Given the description of an element on the screen output the (x, y) to click on. 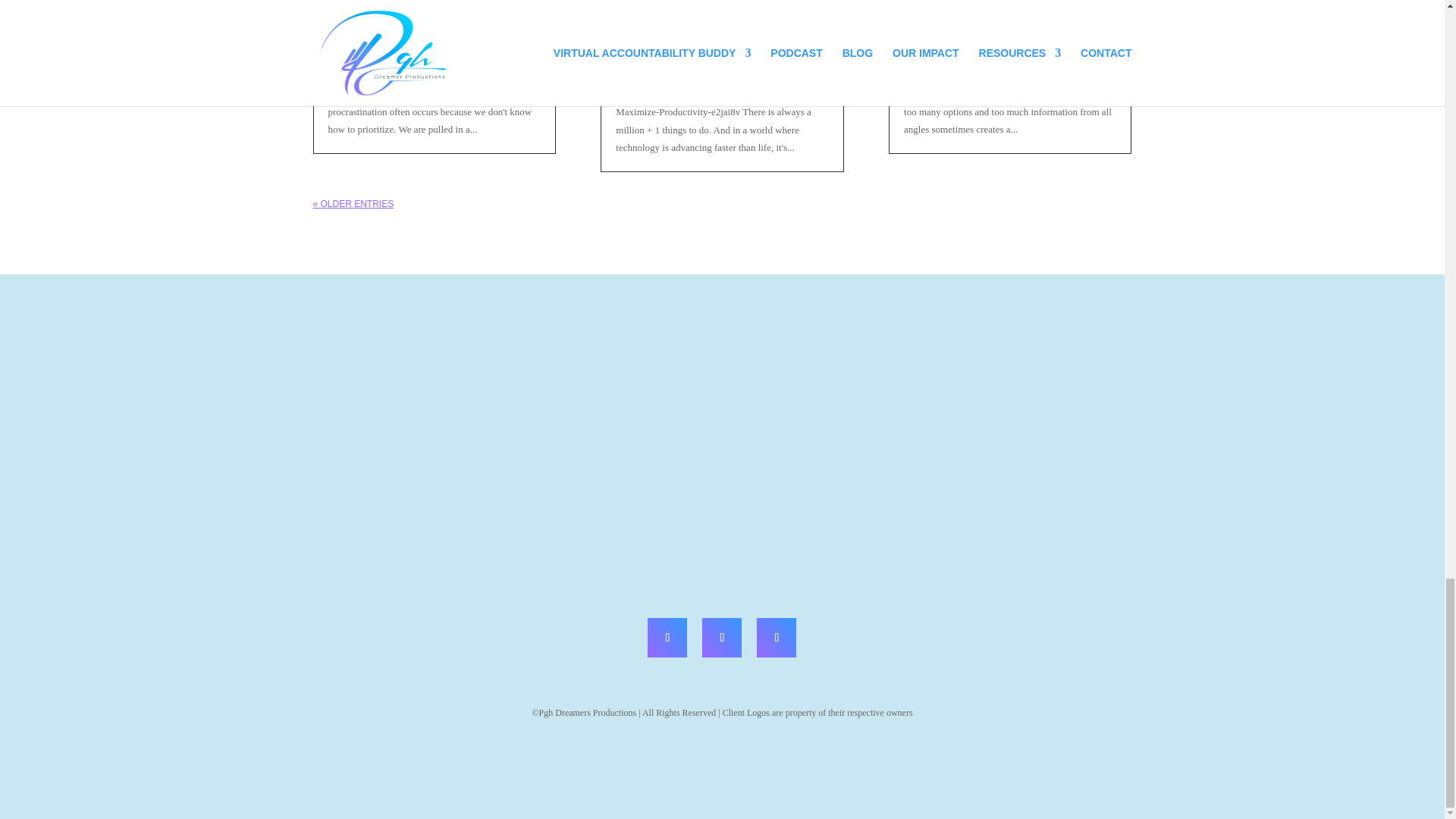
Follow on Youtube (721, 637)
Minimize Procrastination, Maximize Productivity (715, 9)
Follow on Facebook (667, 637)
Follow on Instagram (776, 637)
